Given the description of an element on the screen output the (x, y) to click on. 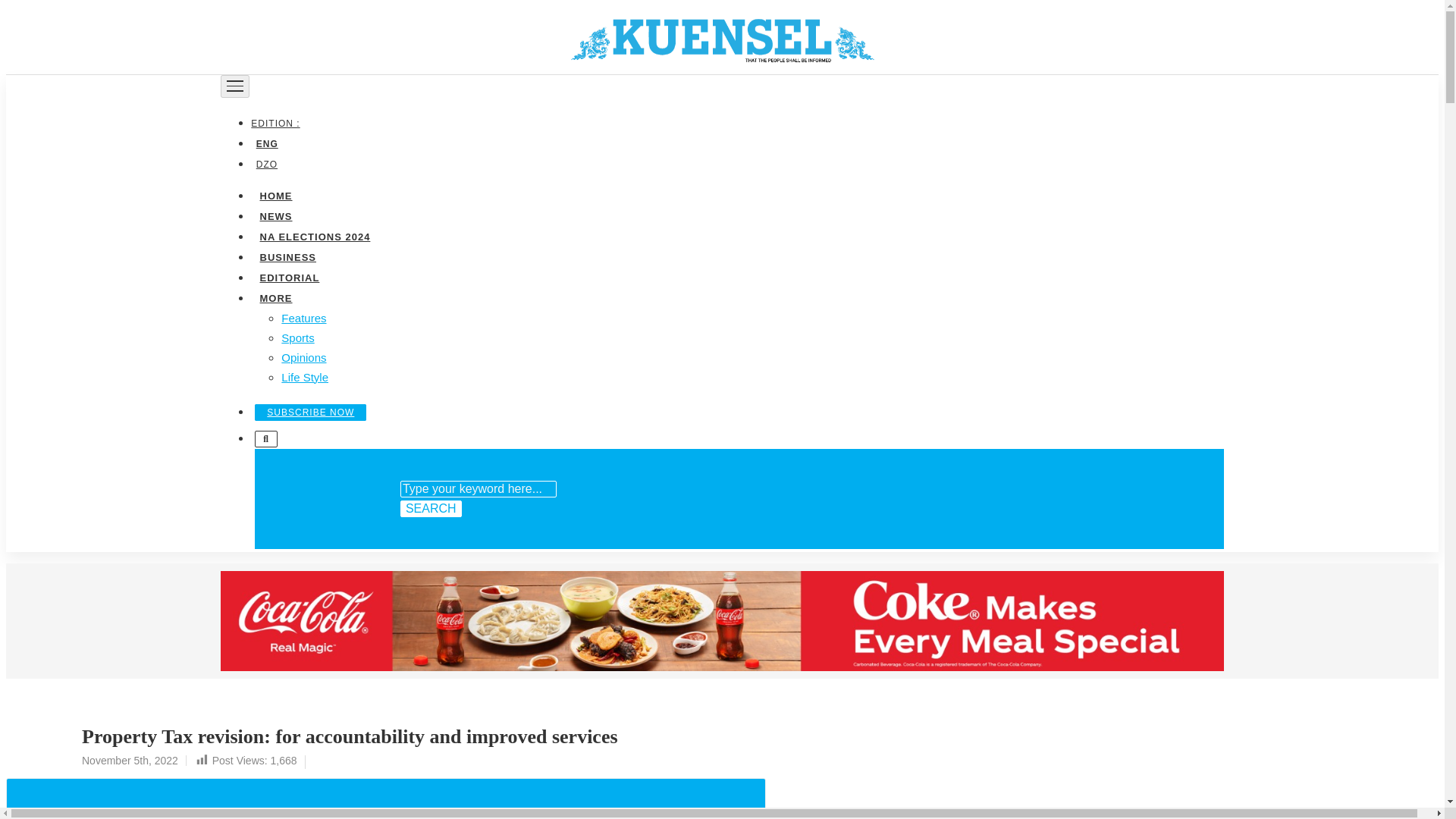
BUSINESS (287, 256)
EDITORIAL (288, 276)
ENG (266, 143)
SEARCH (430, 508)
Opinions (303, 356)
Life Style (305, 376)
NA ELECTIONS 2024 (314, 235)
DZO (266, 163)
SUBSCRIBE NOW (310, 411)
Features (303, 317)
Sports (297, 336)
HOME (274, 194)
MORE (274, 297)
NEWS (274, 215)
EDITION : (277, 122)
